Given the description of an element on the screen output the (x, y) to click on. 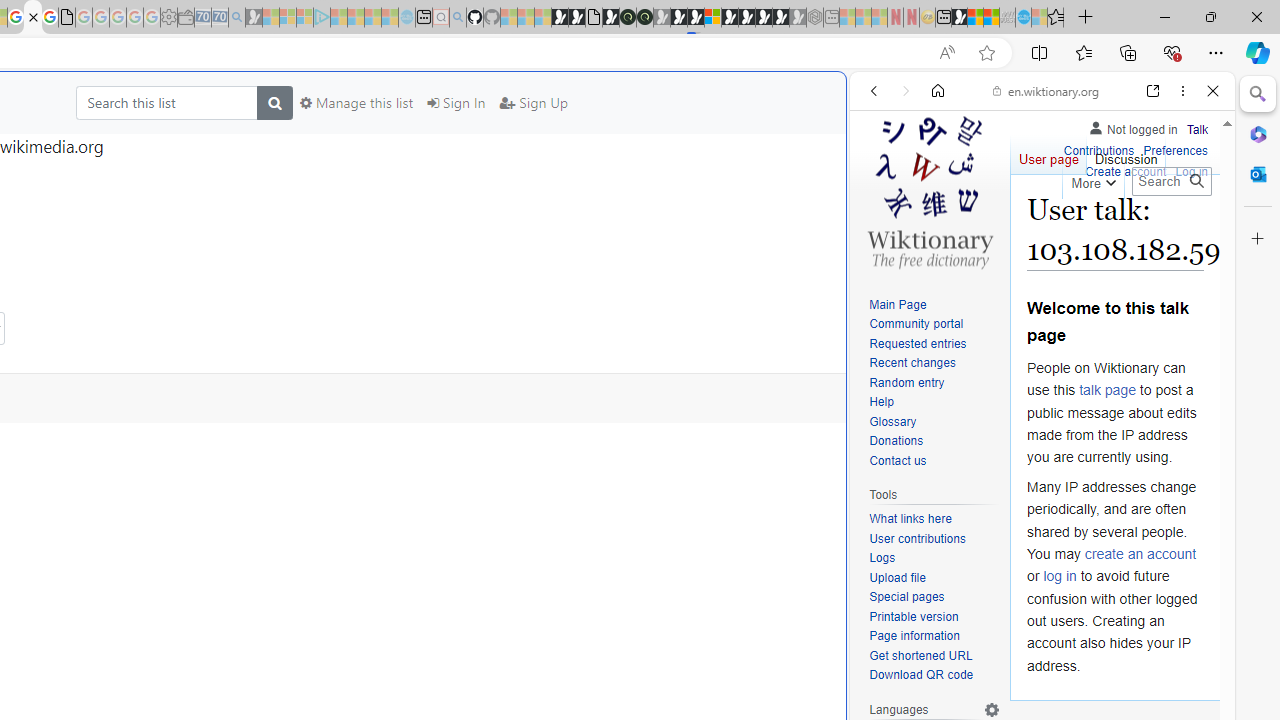
Contact us (934, 461)
Logs (934, 558)
Discussion (1125, 154)
Visit the main page (929, 190)
Talk (1197, 126)
